Given the description of an element on the screen output the (x, y) to click on. 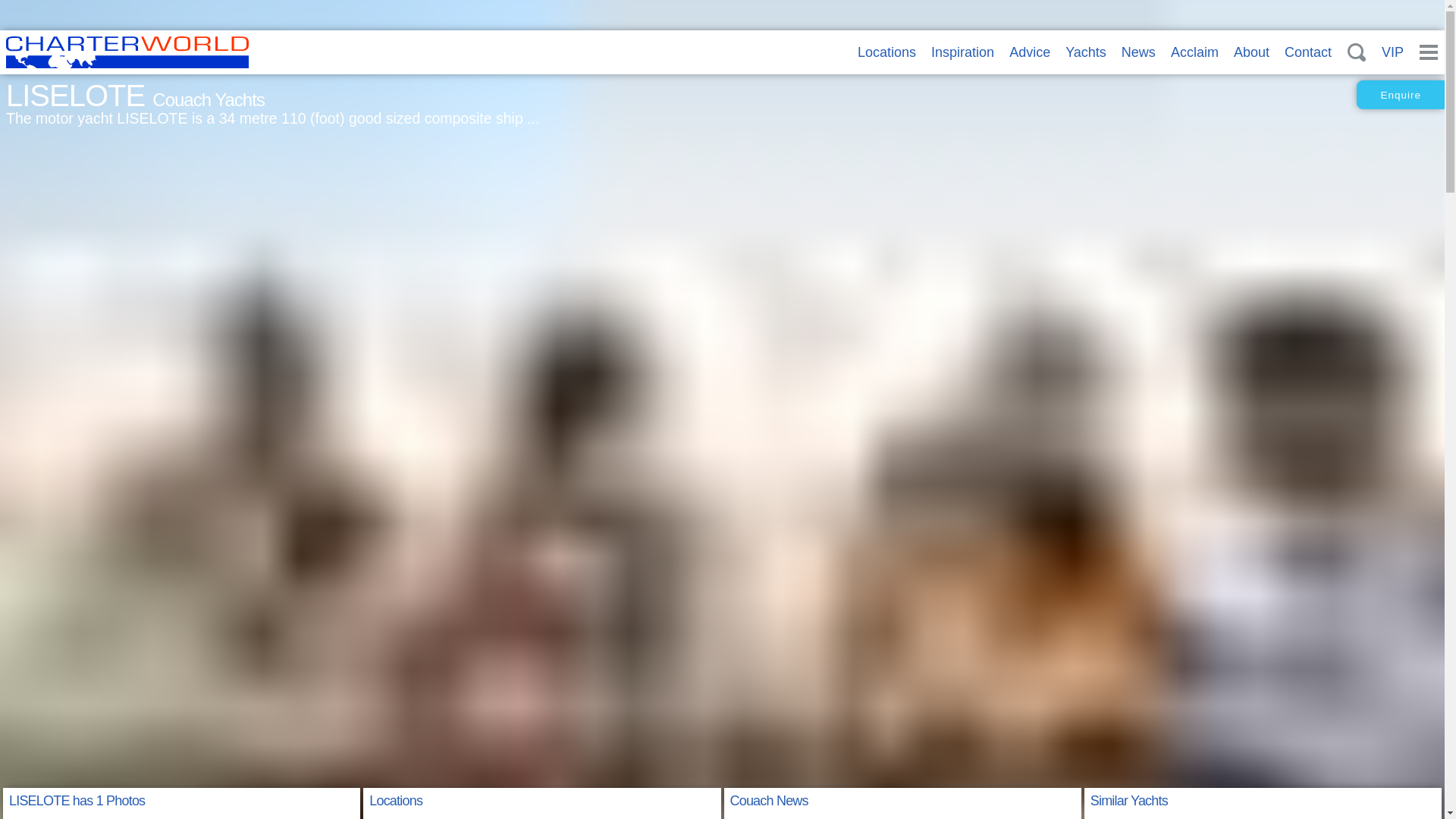
Inspiration (962, 51)
Advice (1029, 51)
News (1138, 51)
Contact (1308, 51)
Locations (886, 51)
Yachts (1085, 51)
Couach News (768, 800)
About (1251, 51)
Acclaim (1194, 51)
